Given the description of an element on the screen output the (x, y) to click on. 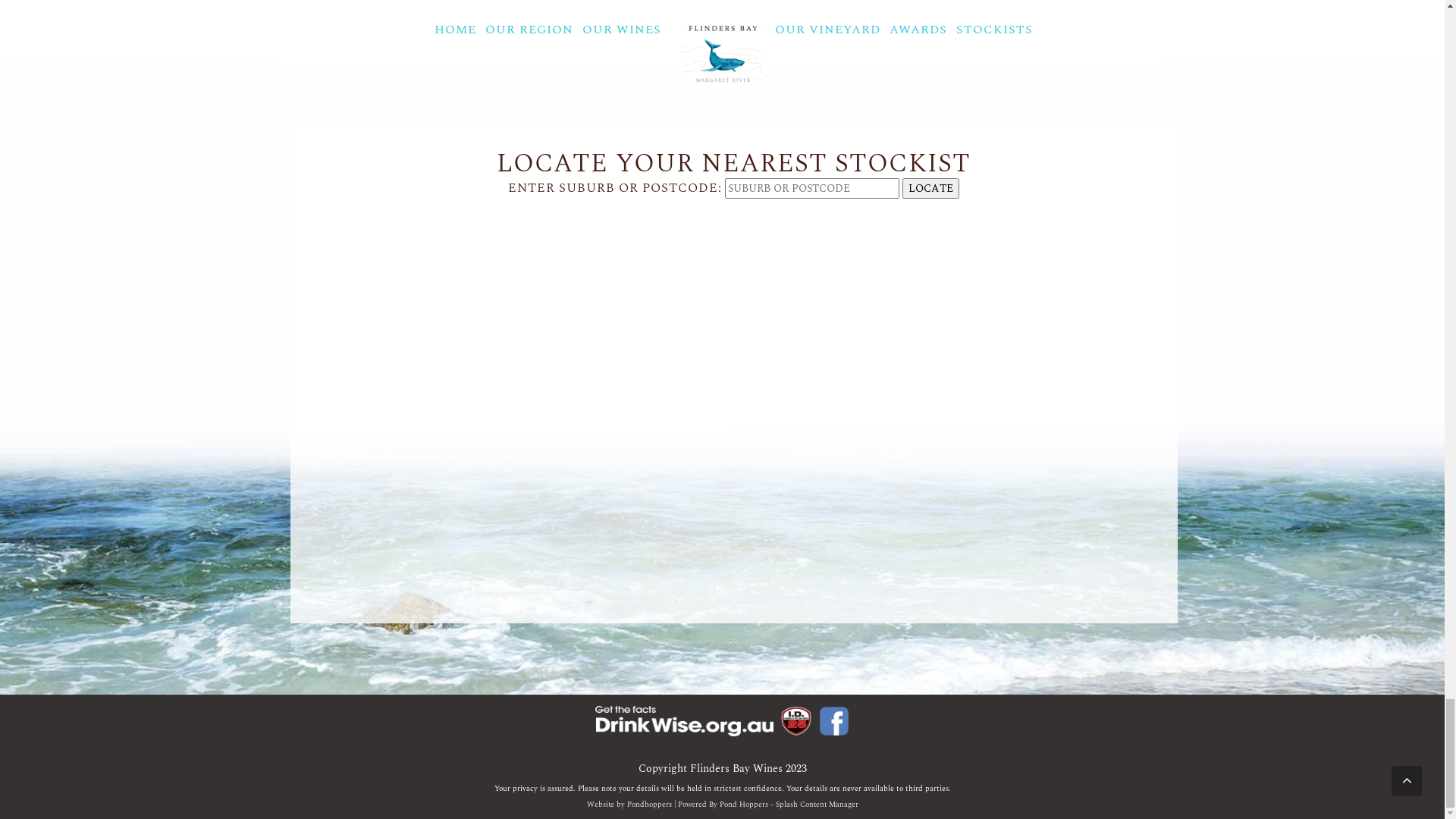
2 Element type: text (1418, 14)
1 Element type: text (1406, 14)
3 Element type: text (1430, 14)
